Given the description of an element on the screen output the (x, y) to click on. 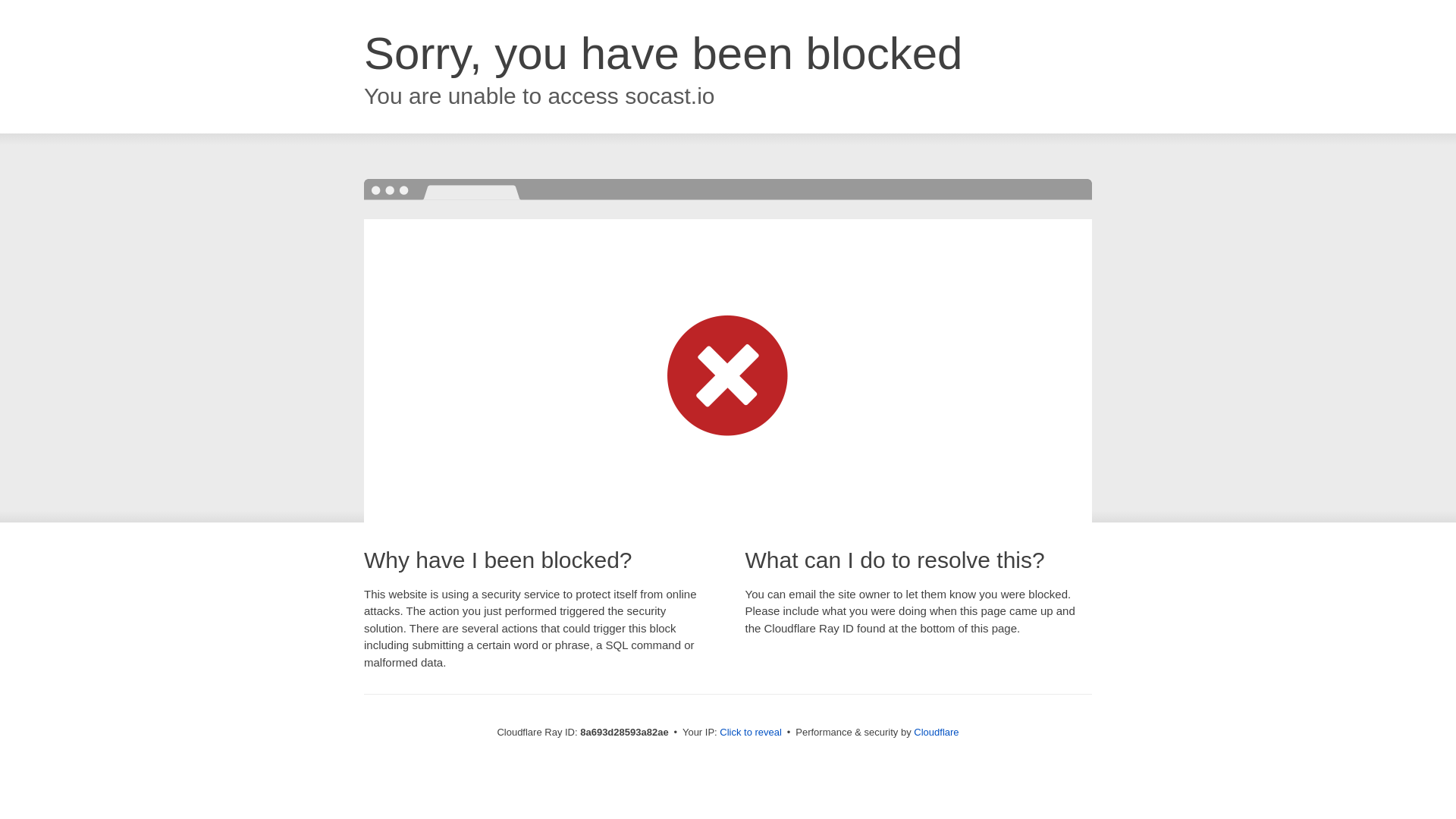
Cloudflare (936, 731)
Click to reveal (750, 732)
